Given the description of an element on the screen output the (x, y) to click on. 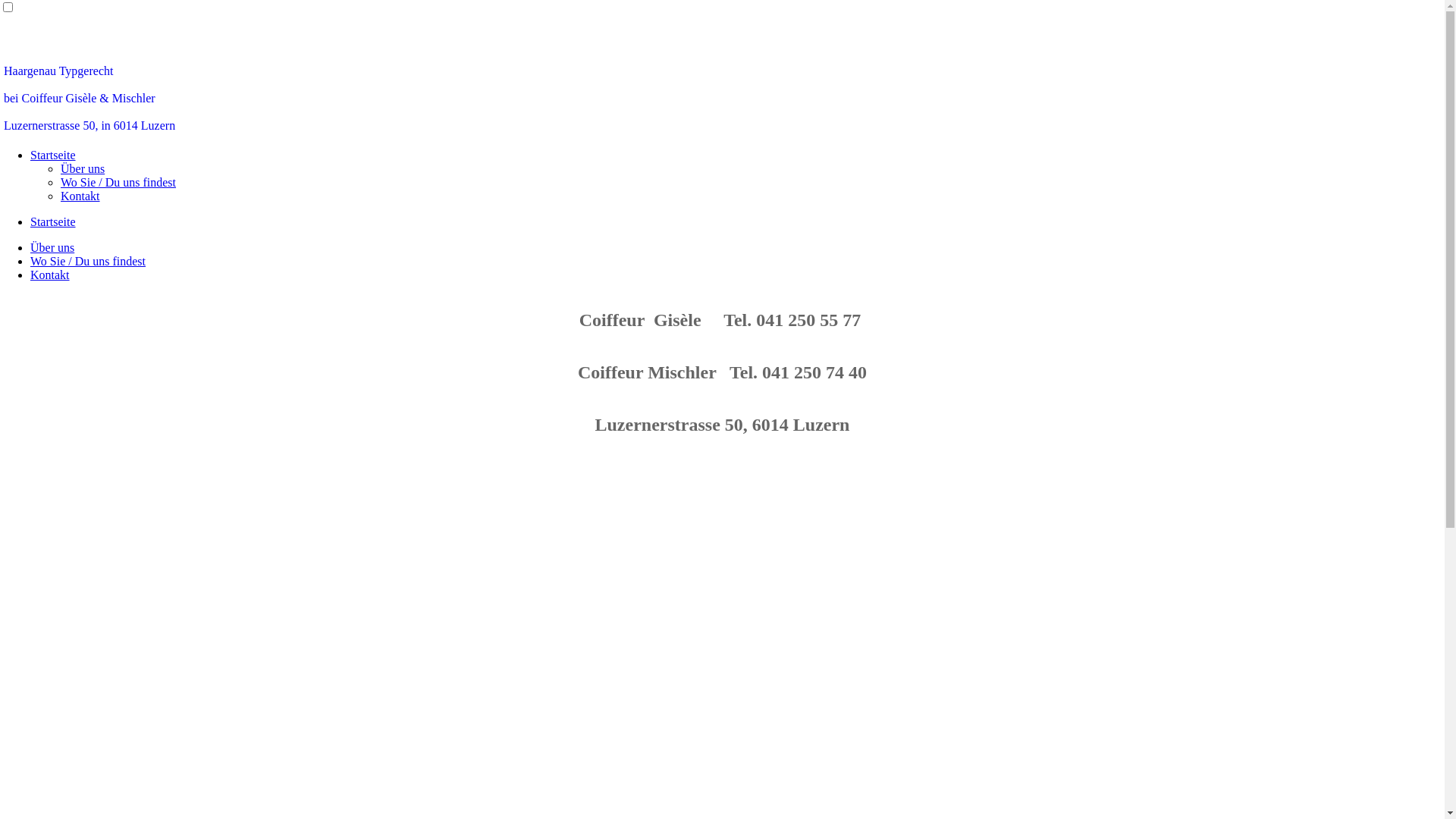
Startseite Element type: text (52, 154)
Kontakt Element type: text (80, 195)
Startseite Element type: text (52, 221)
Kontakt Element type: text (49, 274)
Wo Sie / Du uns findest Element type: text (117, 181)
Wo Sie / Du uns findest Element type: text (87, 260)
